Given the description of an element on the screen output the (x, y) to click on. 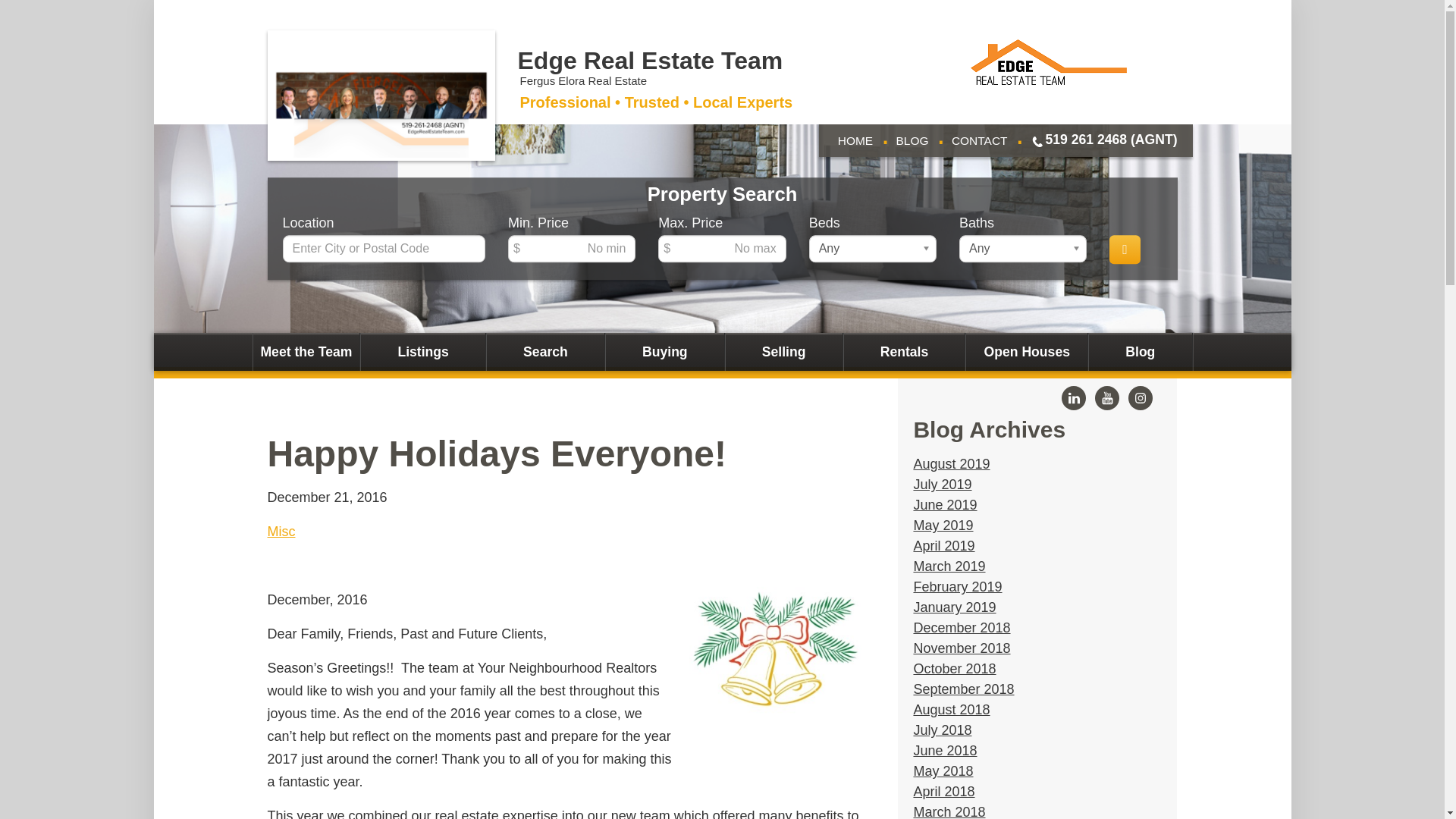
Happy Holidays Everyone! (496, 454)
Accessibility Menu (9, 810)
Edge Real Estate Team (649, 60)
